Given the description of an element on the screen output the (x, y) to click on. 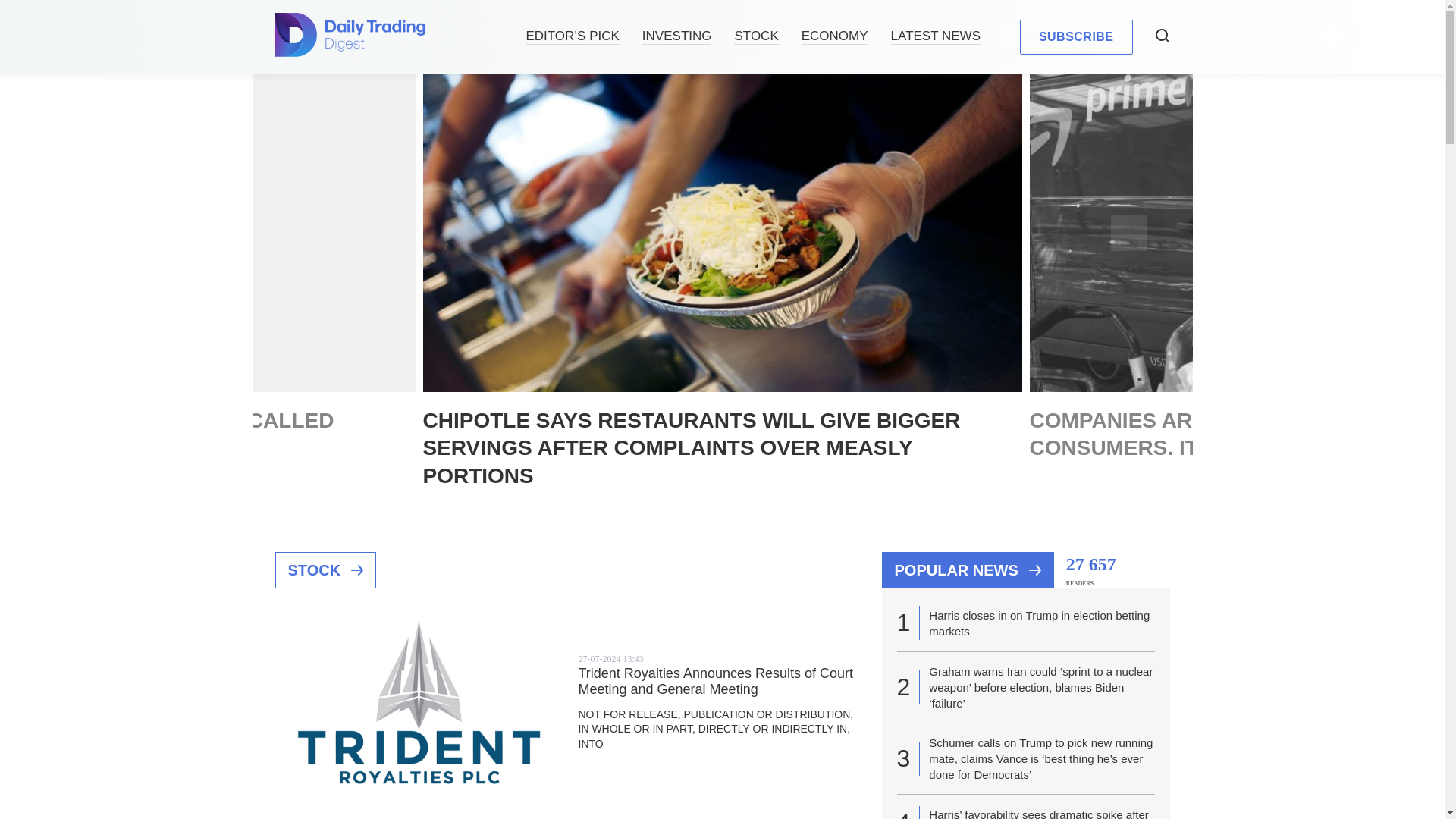
ECONOMY (834, 36)
INVESTING (676, 36)
Next (1128, 232)
STOCK (755, 36)
SUBSCRIBE (1076, 36)
Previous (315, 232)
LATEST NEWS (935, 36)
